Given the description of an element on the screen output the (x, y) to click on. 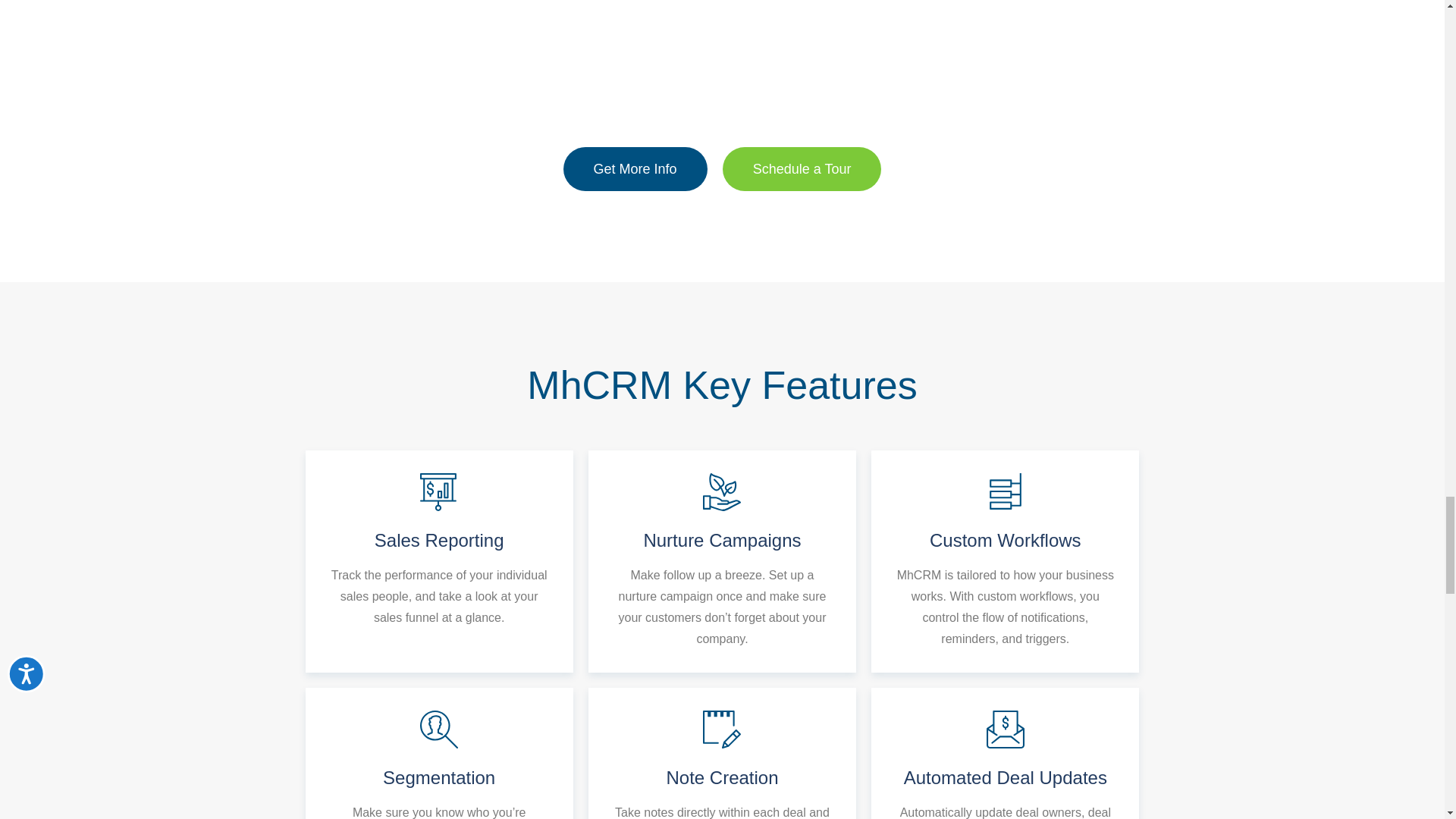
Schedule a Tour (802, 168)
Get More Info (635, 168)
